Given the description of an element on the screen output the (x, y) to click on. 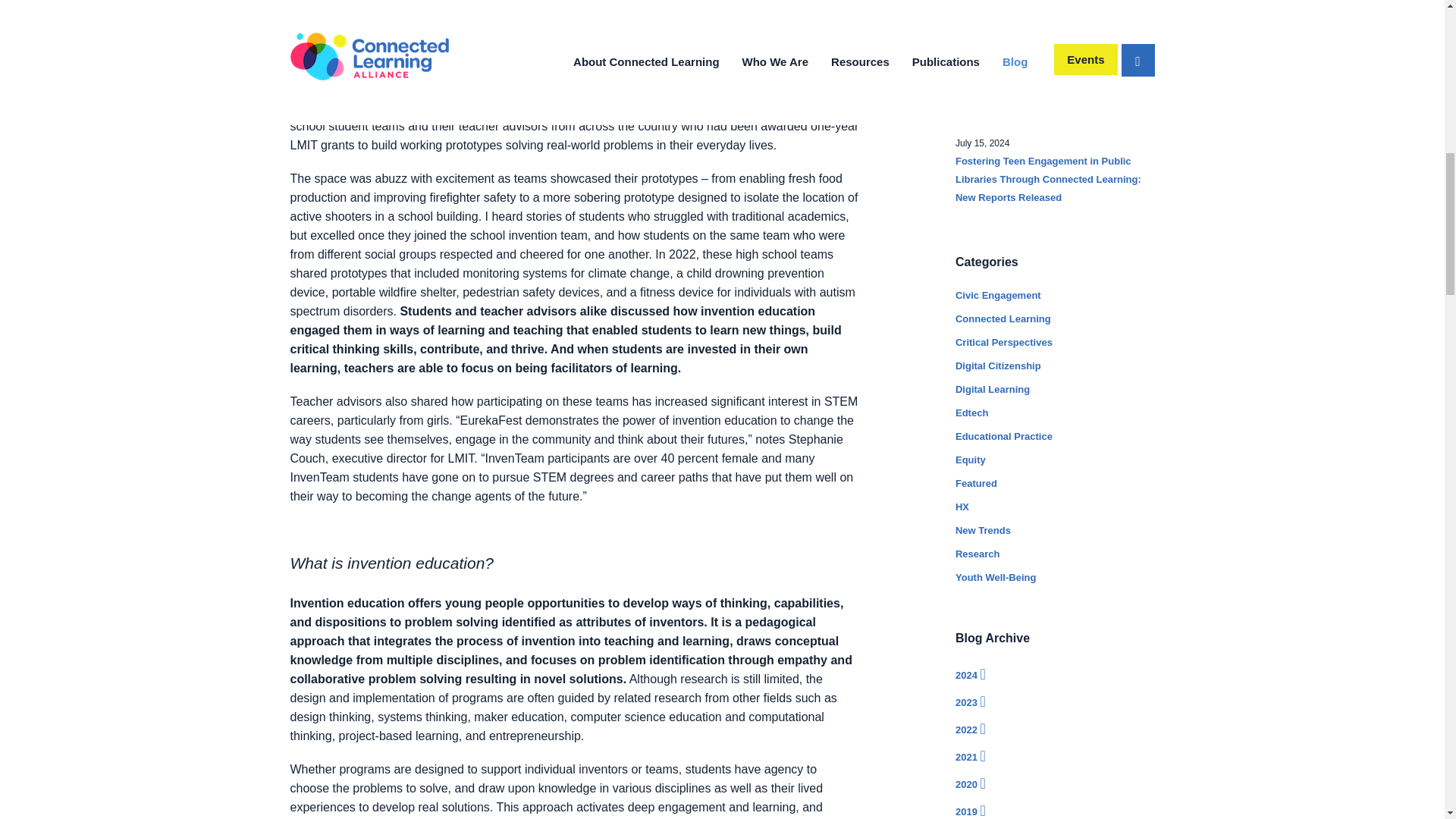
HX (962, 506)
Critical Perspectives (1003, 342)
Featured (976, 482)
Research (977, 553)
Digital Citizenship (998, 365)
Civic Engagement (998, 295)
2024 (1054, 672)
Equity (970, 460)
Edtech (971, 412)
Educational Practice (1003, 436)
Youth Well-Being (995, 577)
Connected Learning (1003, 318)
Digital Learning (992, 389)
New Trends (982, 530)
